Given the description of an element on the screen output the (x, y) to click on. 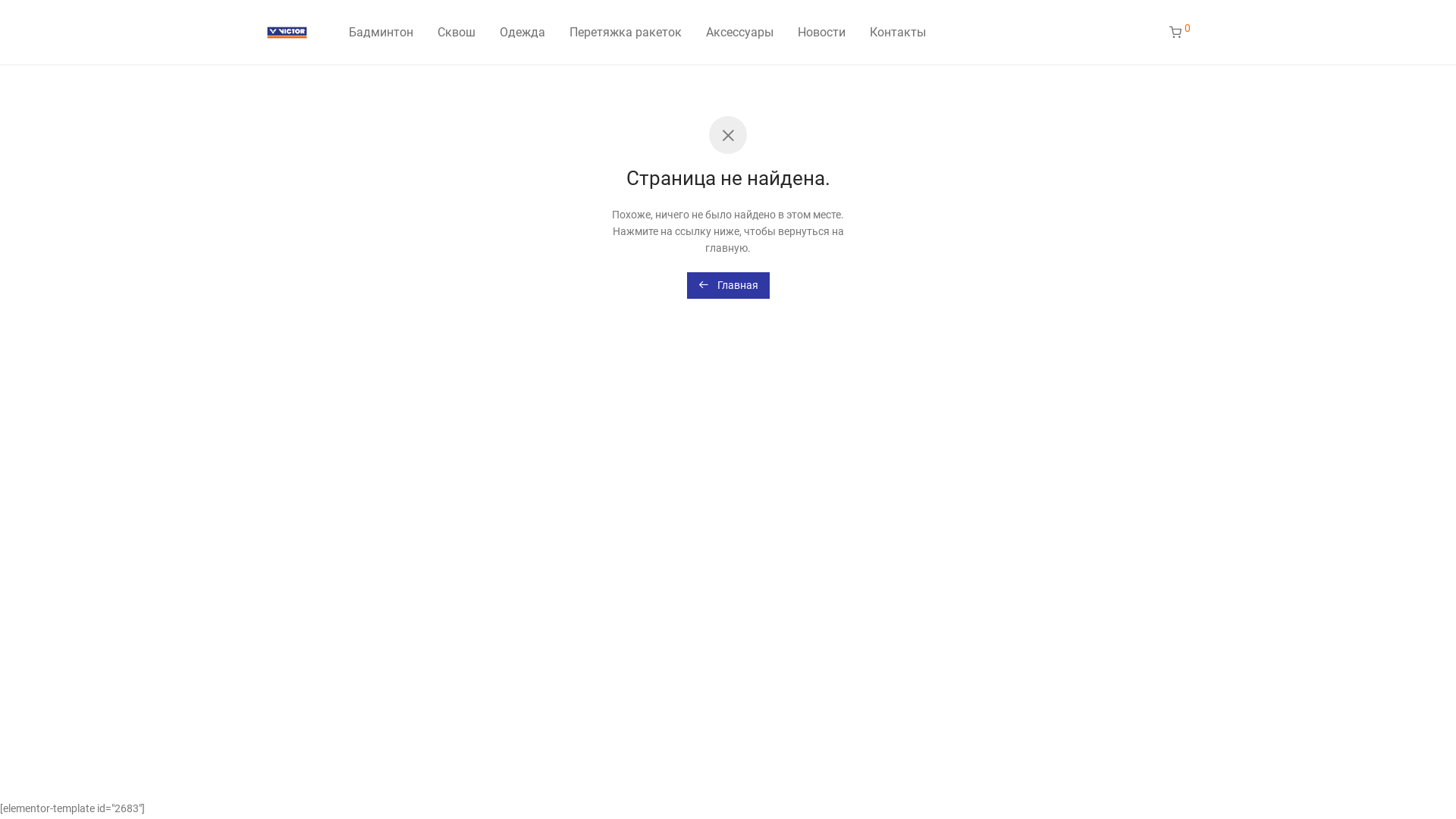
0 Element type: text (1179, 32)
